Given the description of an element on the screen output the (x, y) to click on. 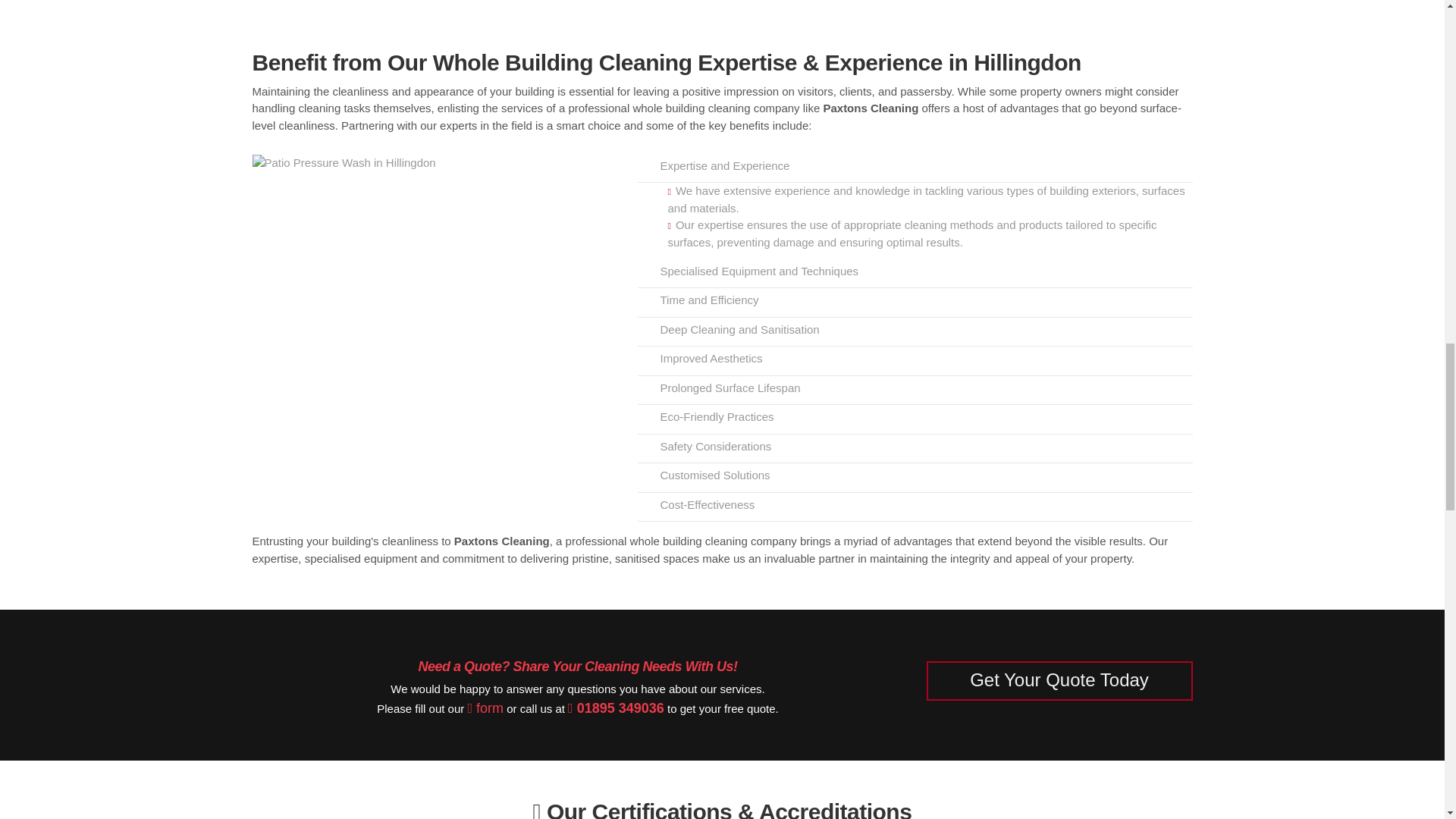
01895 349036 (615, 708)
Patio Pressure Wash Sean-Fitzpatrick-Rear-Patio-Sunningdale (343, 162)
form (485, 708)
Get Your Quote Today (1059, 680)
